Given the description of an element on the screen output the (x, y) to click on. 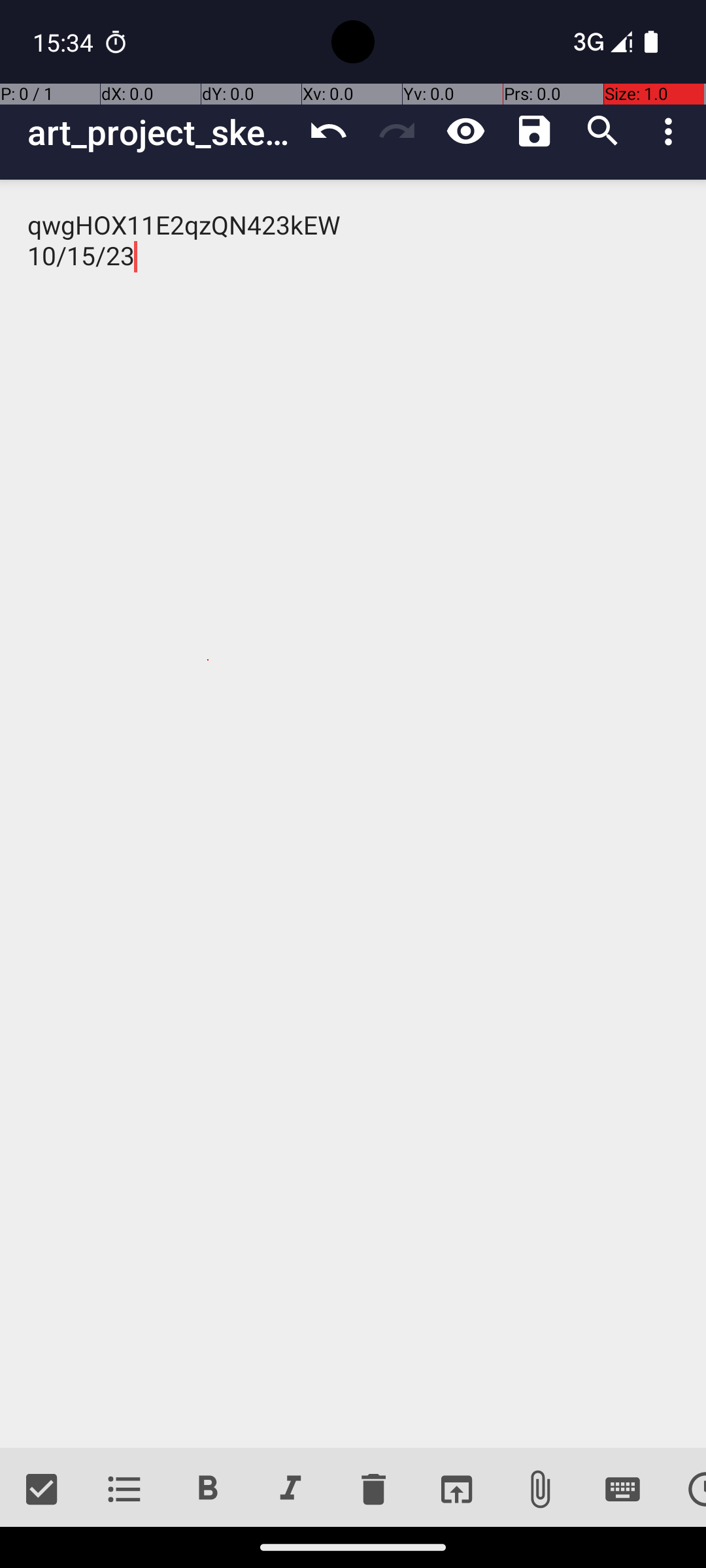
art_project_sketches_2023_01_11 Element type: android.widget.TextView (160, 131)
qwgHOX11E2qzQN423kEW
10/15/23 Element type: android.widget.EditText (353, 813)
